Given the description of an element on the screen output the (x, y) to click on. 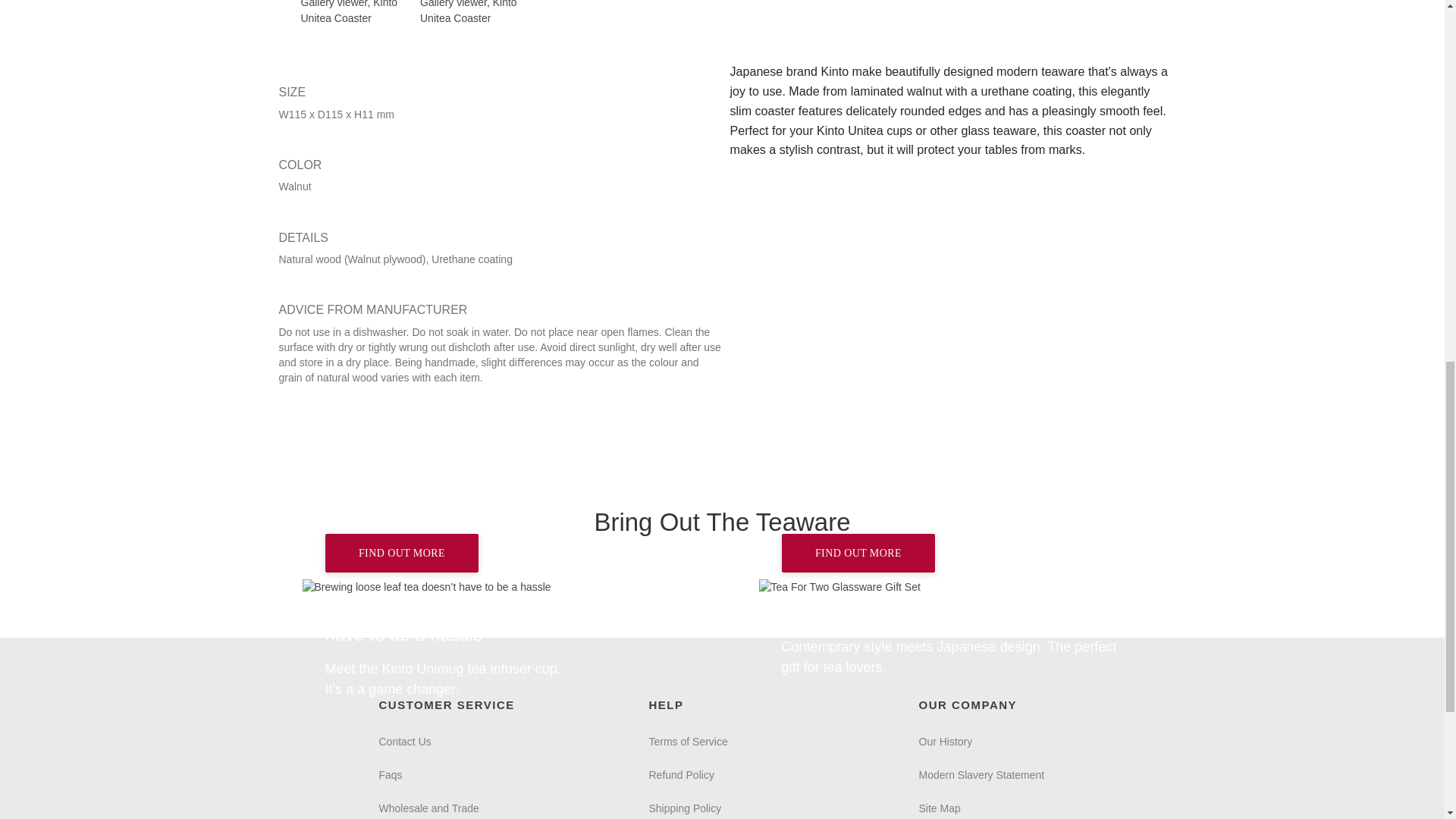
FIND OUT MORE (493, 587)
FIND OUT MORE (401, 552)
